Given the description of an element on the screen output the (x, y) to click on. 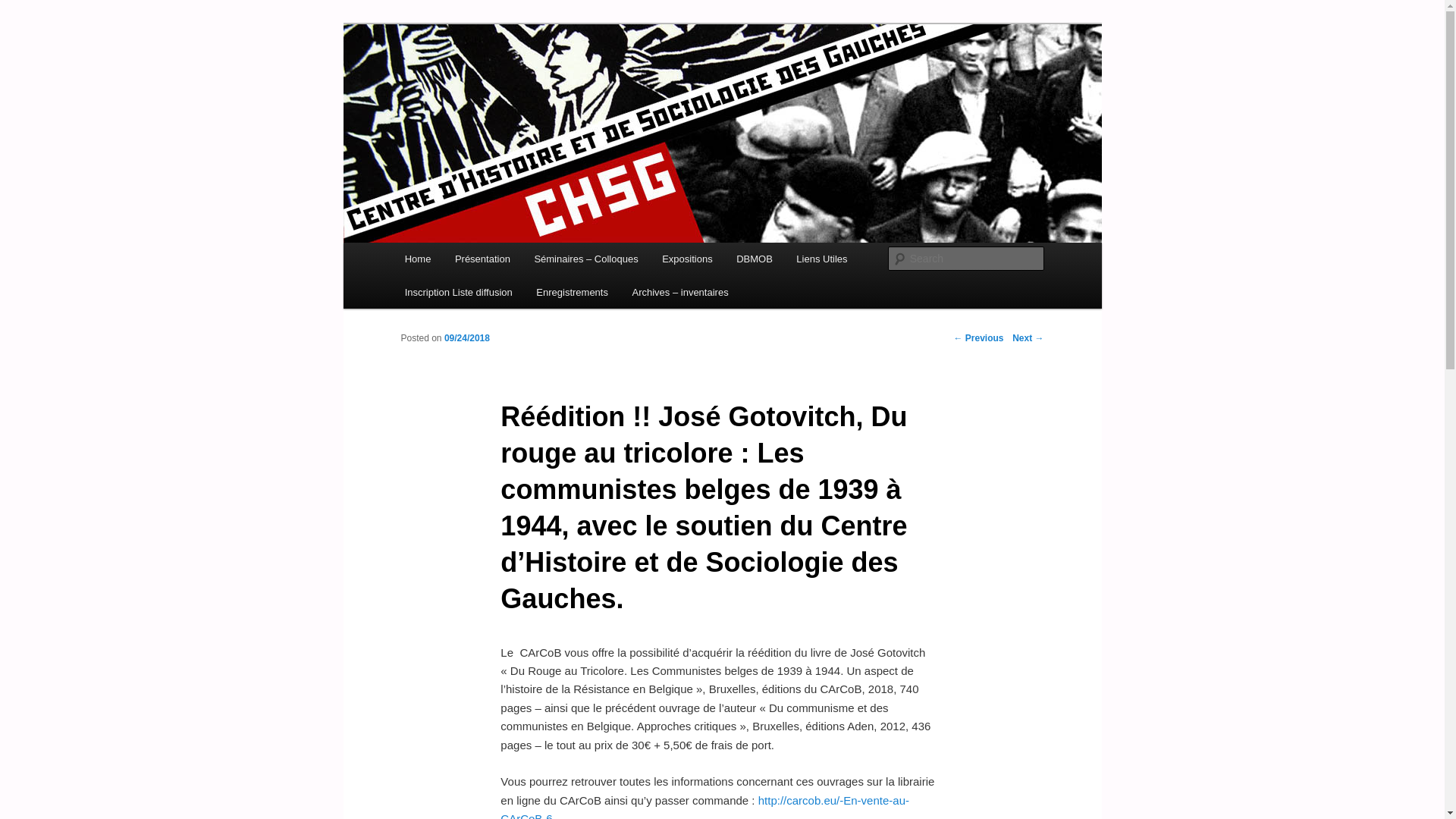
Enregistrements Element type: text (572, 292)
Expositions Element type: text (686, 258)
Search Element type: text (24, 8)
Skip to primary content Element type: text (472, 261)
DBMOB Element type: text (754, 258)
Inscription Liste diffusion Element type: text (458, 292)
Skip to secondary content Element type: text (479, 261)
Centre d'Histoire et de Sociologie des Gauches Element type: text (604, 92)
Liens Utiles Element type: text (821, 258)
Home Element type: text (417, 258)
09/24/2018 Element type: text (466, 337)
